Given the description of an element on the screen output the (x, y) to click on. 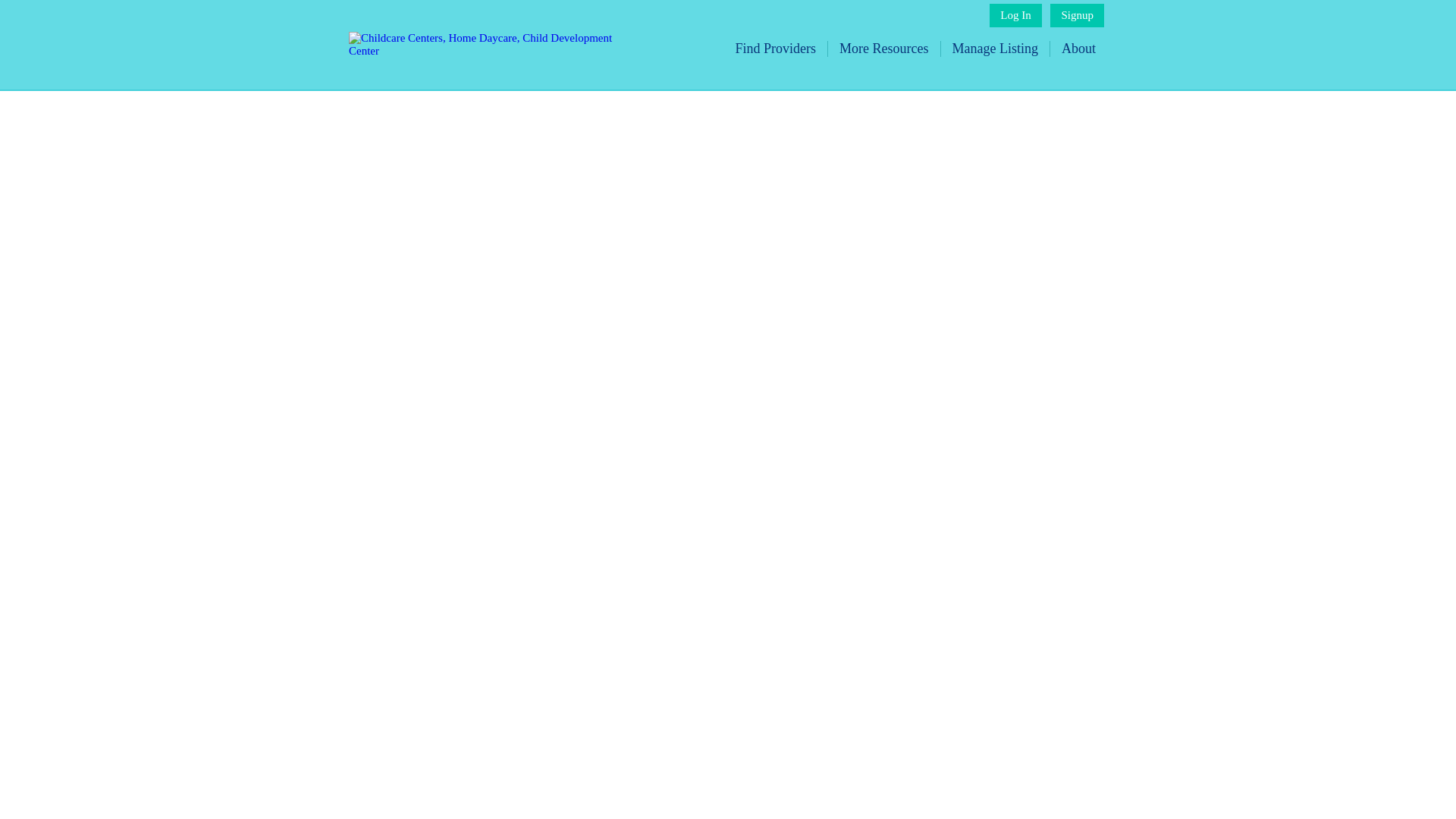
Find Providers (775, 48)
Childcare Center, Preschools, and Home Daycare (493, 50)
Log In (1015, 15)
Log In (1015, 15)
Signup (1076, 15)
Manage Listing (995, 48)
About (1078, 48)
More Resources (884, 48)
